Given the description of an element on the screen output the (x, y) to click on. 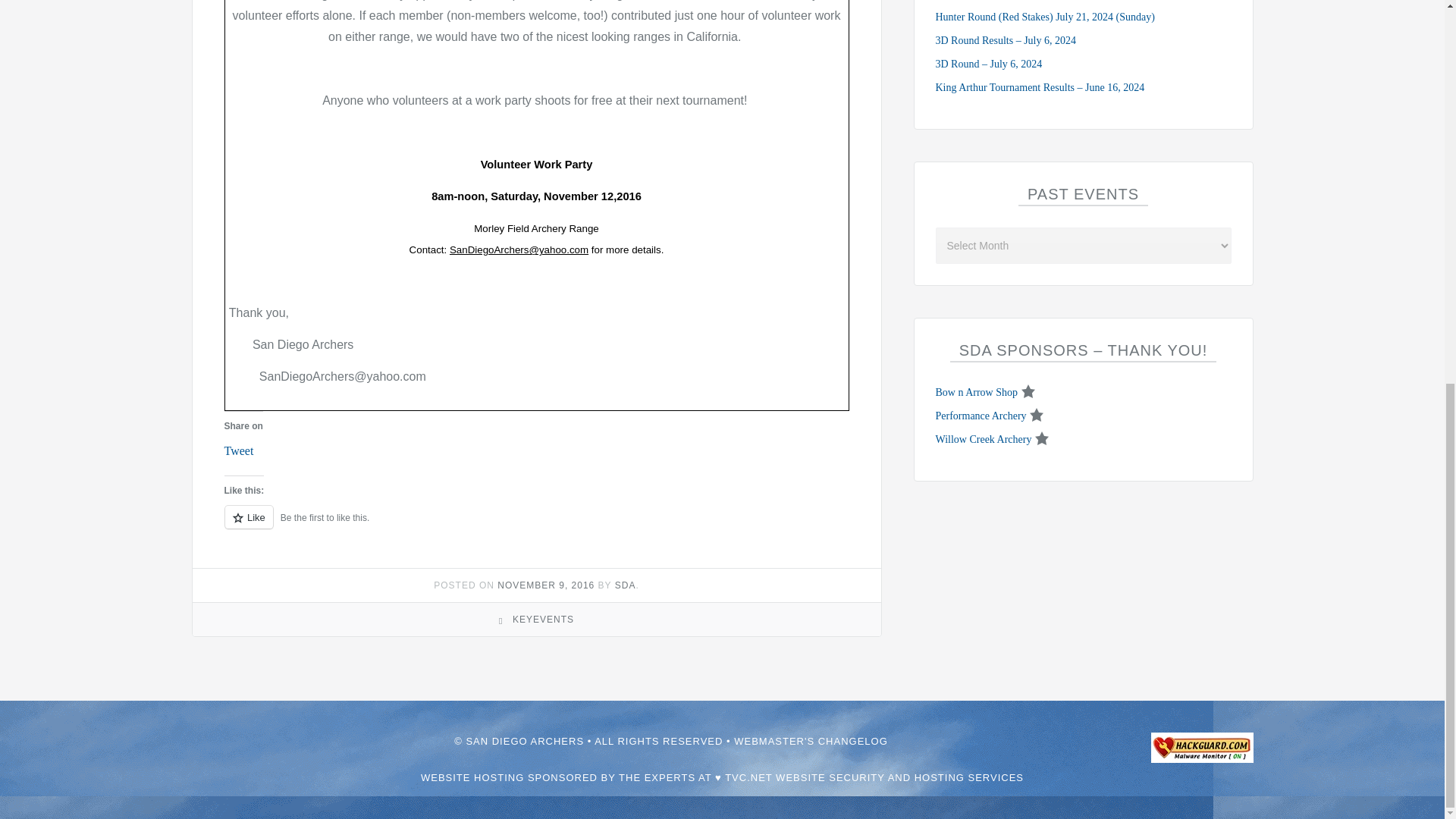
Performance Archery (981, 415)
Willow Creek Archery (984, 439)
Like or Reblog (536, 526)
Bow and Arrow Shop (976, 392)
TVCNet Website Security and Hosting Services (721, 777)
